Given the description of an element on the screen output the (x, y) to click on. 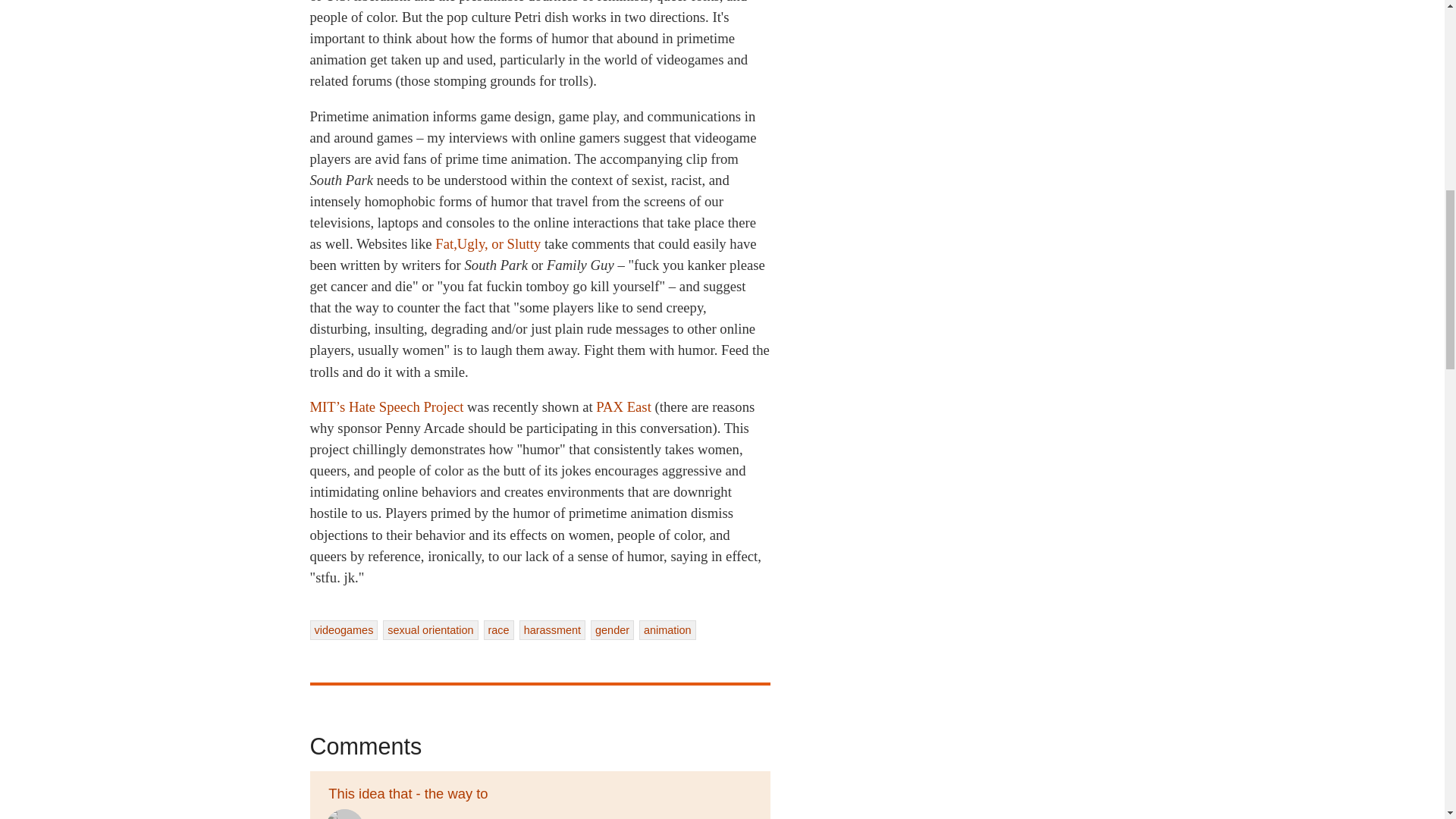
gender (612, 629)
 This idea that - the way to (405, 793)
PAX East (622, 406)
videogames (342, 629)
sexual orientation (429, 629)
race (498, 629)
View user profile. (343, 814)
harassment (552, 629)
animation (667, 629)
Fat,Ugly, or Slutty (487, 243)
